Given the description of an element on the screen output the (x, y) to click on. 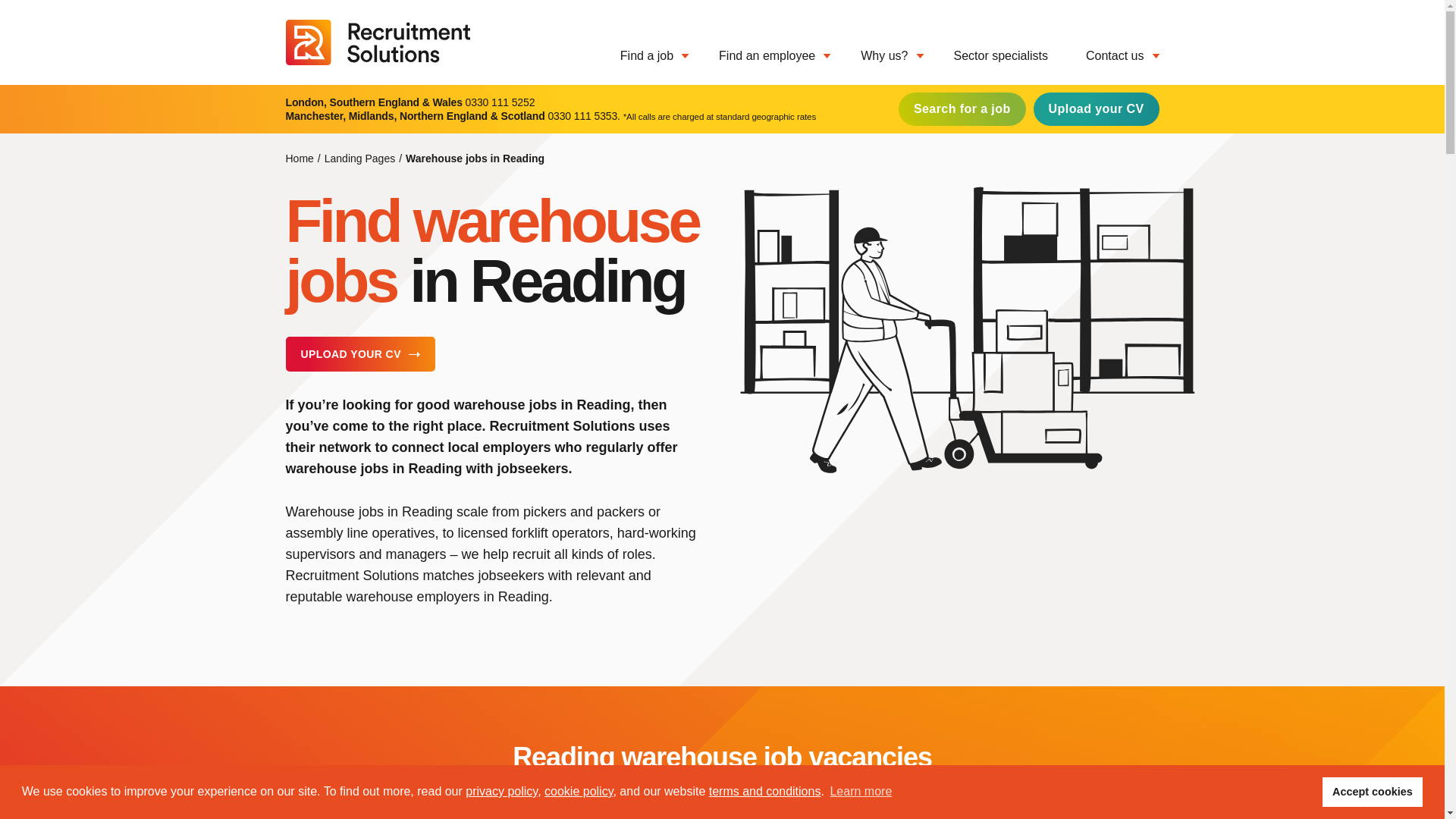
Contact us (1104, 56)
Find an employee (756, 56)
Why us? (872, 56)
Sector specialists (990, 56)
Find a job (635, 56)
